Given the description of an element on the screen output the (x, y) to click on. 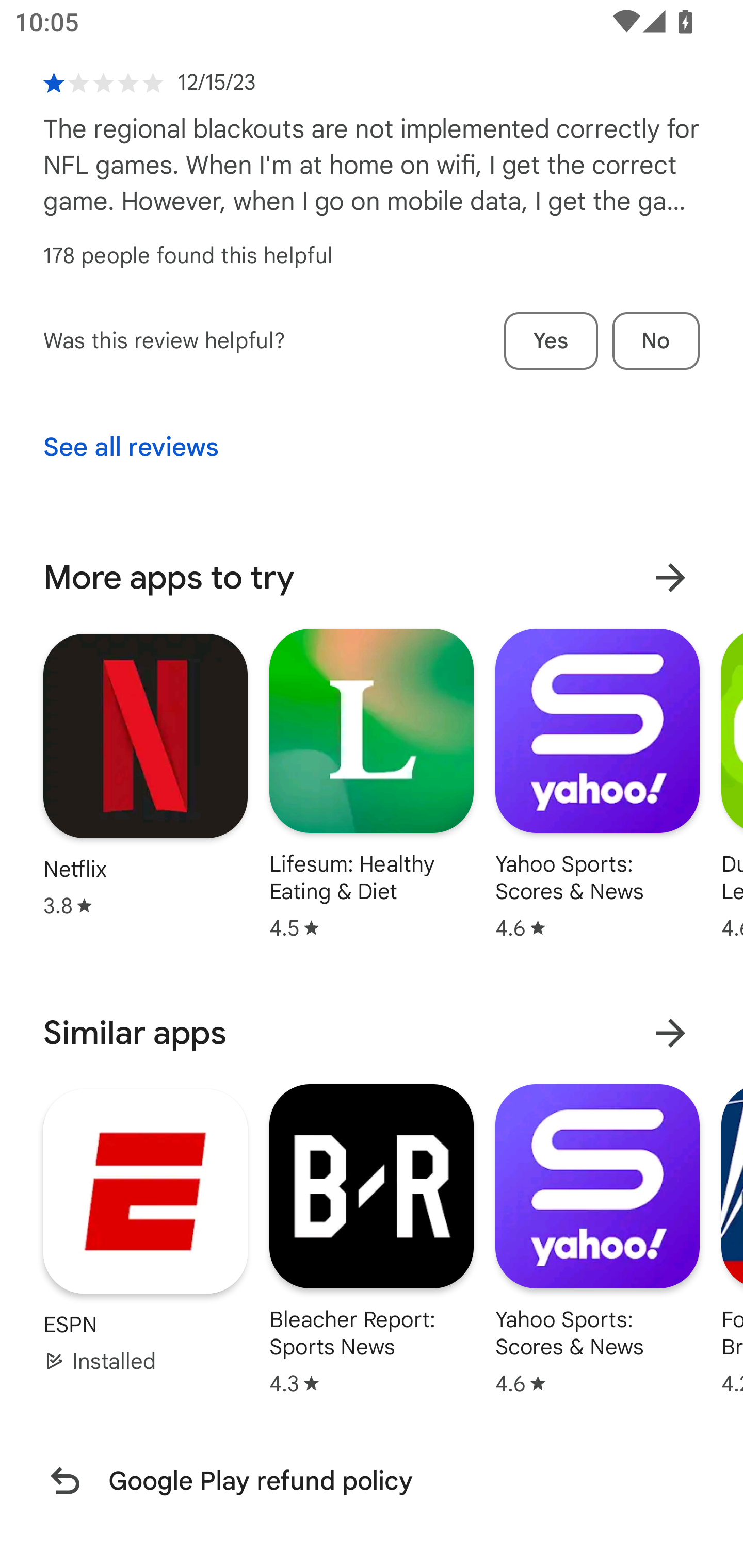
Options (655, 26)
Yes (550, 340)
No (655, 340)
See all reviews (130, 447)
More apps to try More results for More apps to try (371, 577)
More results for More apps to try (670, 577)
Netflix
Star rating: 3.8
 (145, 774)
Lifesum: Healthy Eating & Diet
Star rating: 4.5
 (371, 783)
Yahoo Sports: Scores & News
Star rating: 4.6
 (597, 783)
Similar apps More results for Similar apps (371, 1033)
More results for Similar apps (670, 1033)
ESPN
Installed
 (145, 1230)
Bleacher Report: Sports News
Star rating: 4.3
 (371, 1238)
Yahoo Sports: Scores & News
Star rating: 4.6
 (597, 1238)
Google Play refund policy (371, 1480)
